Given the description of an element on the screen output the (x, y) to click on. 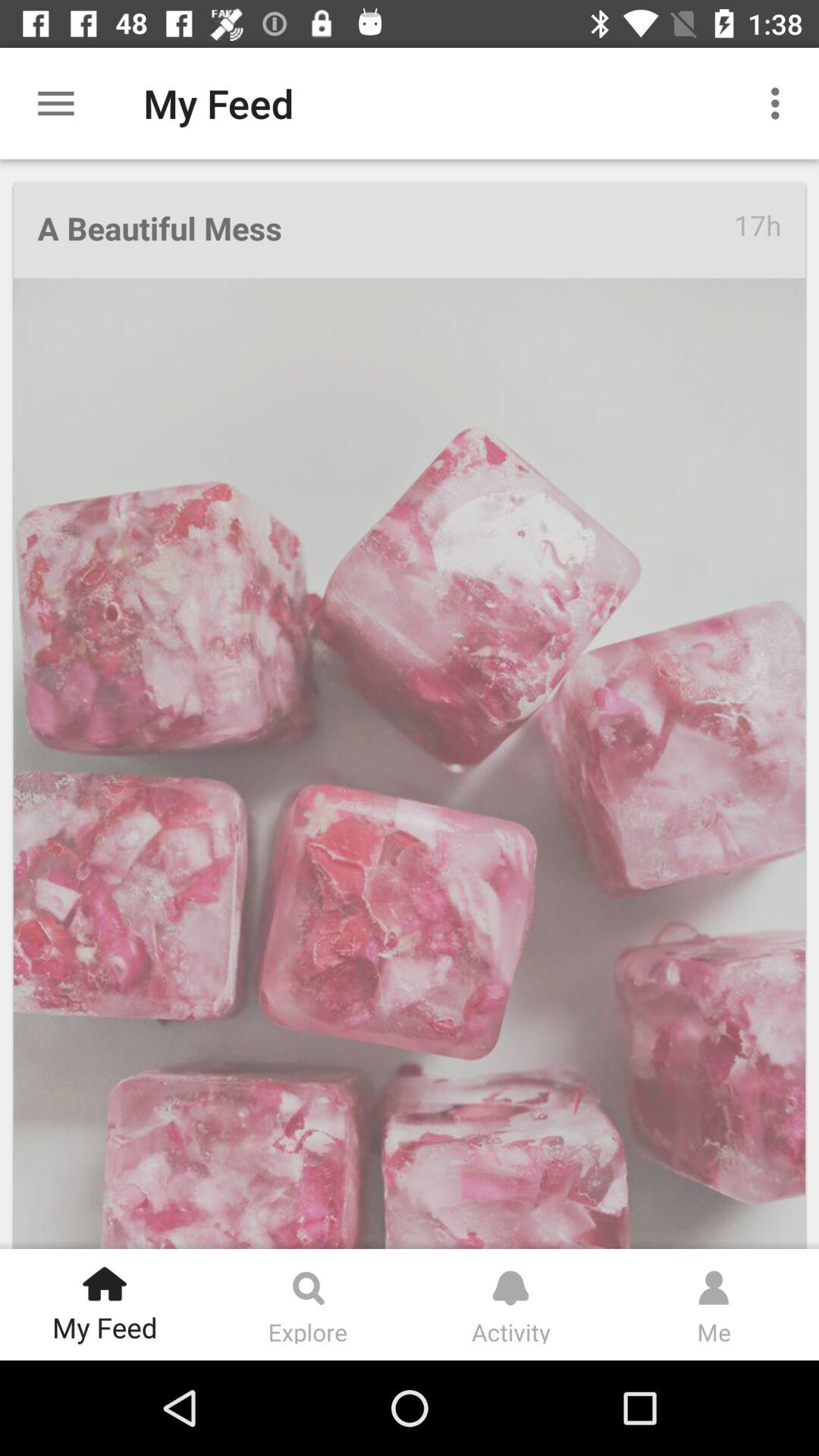
tap item next to the my feed item (779, 103)
